Given the description of an element on the screen output the (x, y) to click on. 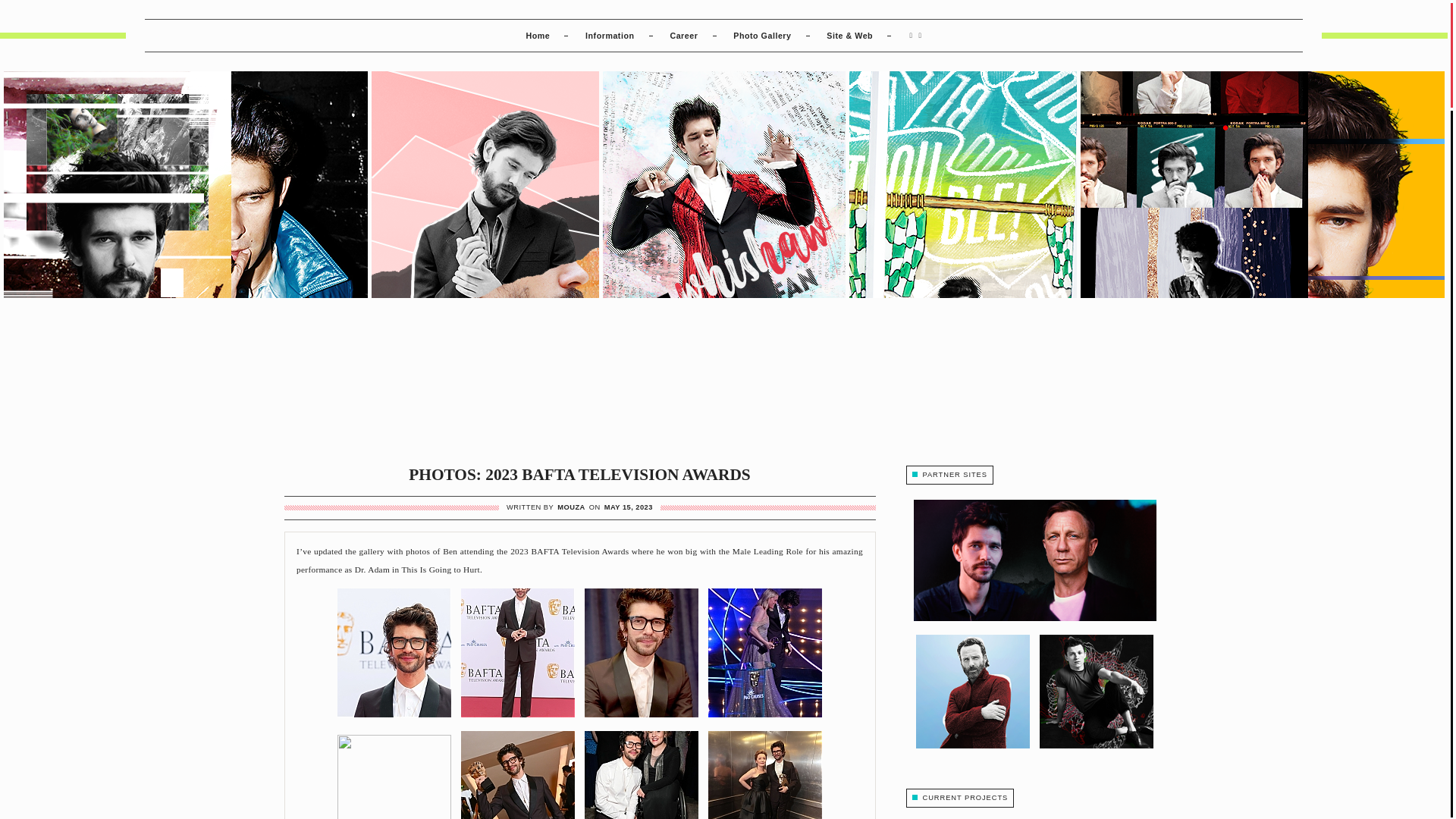
Mail (918, 35)
Information (609, 35)
PHOTOS: 2023 BAFTA TELEVISION AWARDS (579, 475)
Photo Gallery (761, 35)
Home (537, 35)
Twitter (908, 35)
Career (683, 35)
Permanent Link to Photos: 2023 BAFTA Television Awards (579, 475)
